Given the description of an element on the screen output the (x, y) to click on. 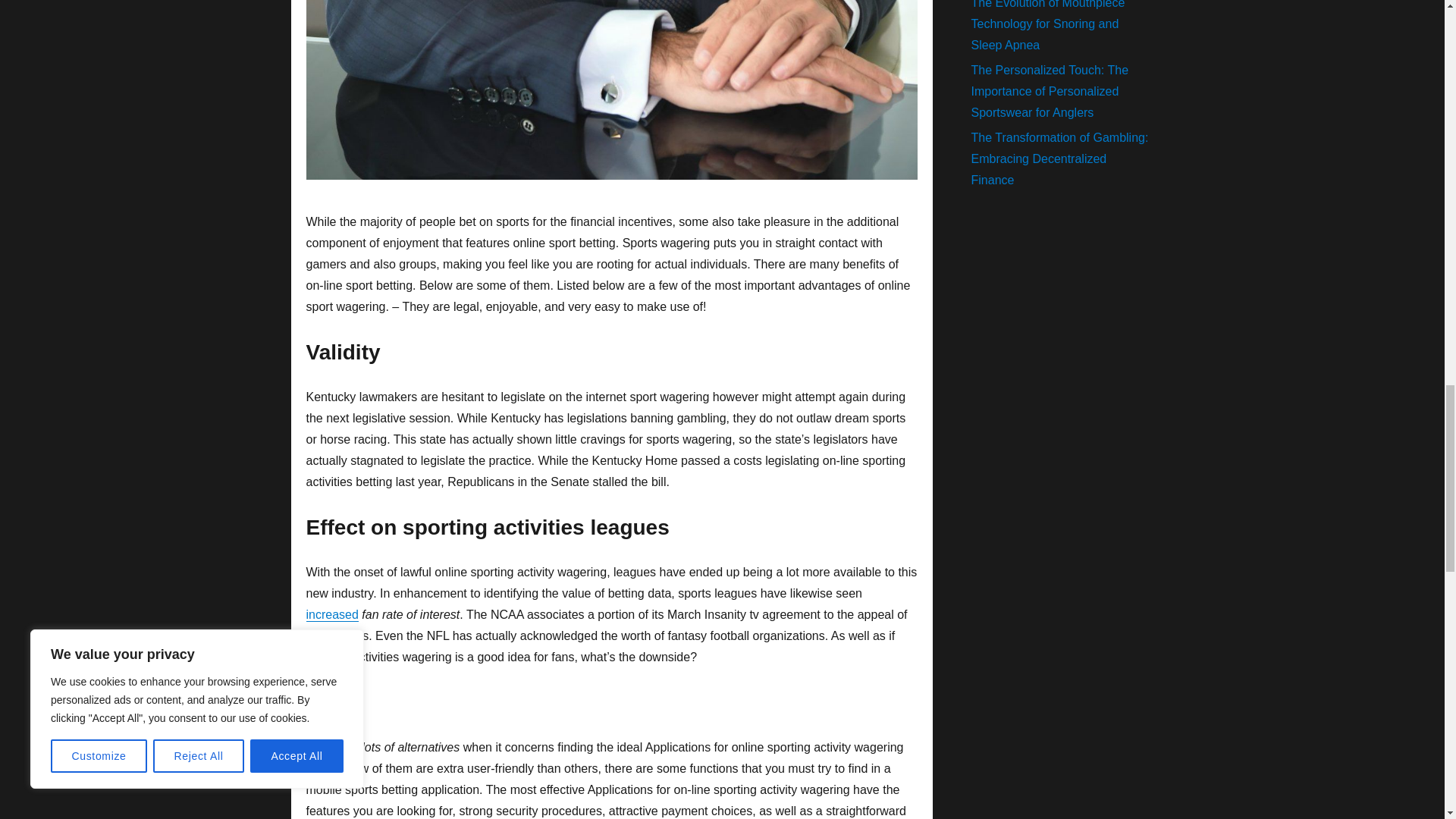
increased (331, 614)
